Given the description of an element on the screen output the (x, y) to click on. 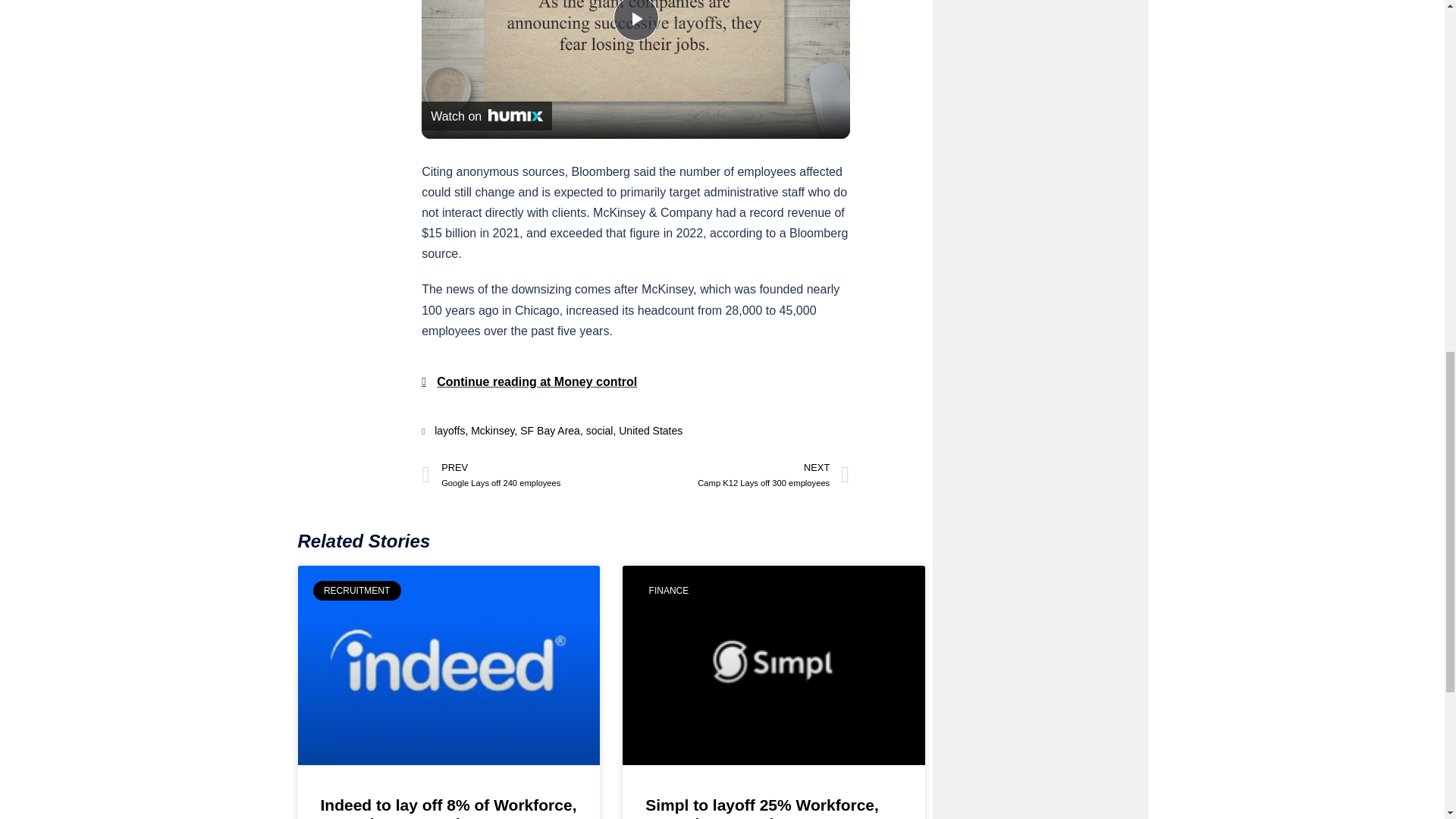
United States (650, 430)
layoffs (448, 430)
social (741, 474)
Play Video (599, 430)
Mckinsey (635, 20)
Watch on (491, 430)
Play Video (486, 115)
SF Bay Area (635, 20)
Continue reading at Money control (549, 430)
